Given the description of an element on the screen output the (x, y) to click on. 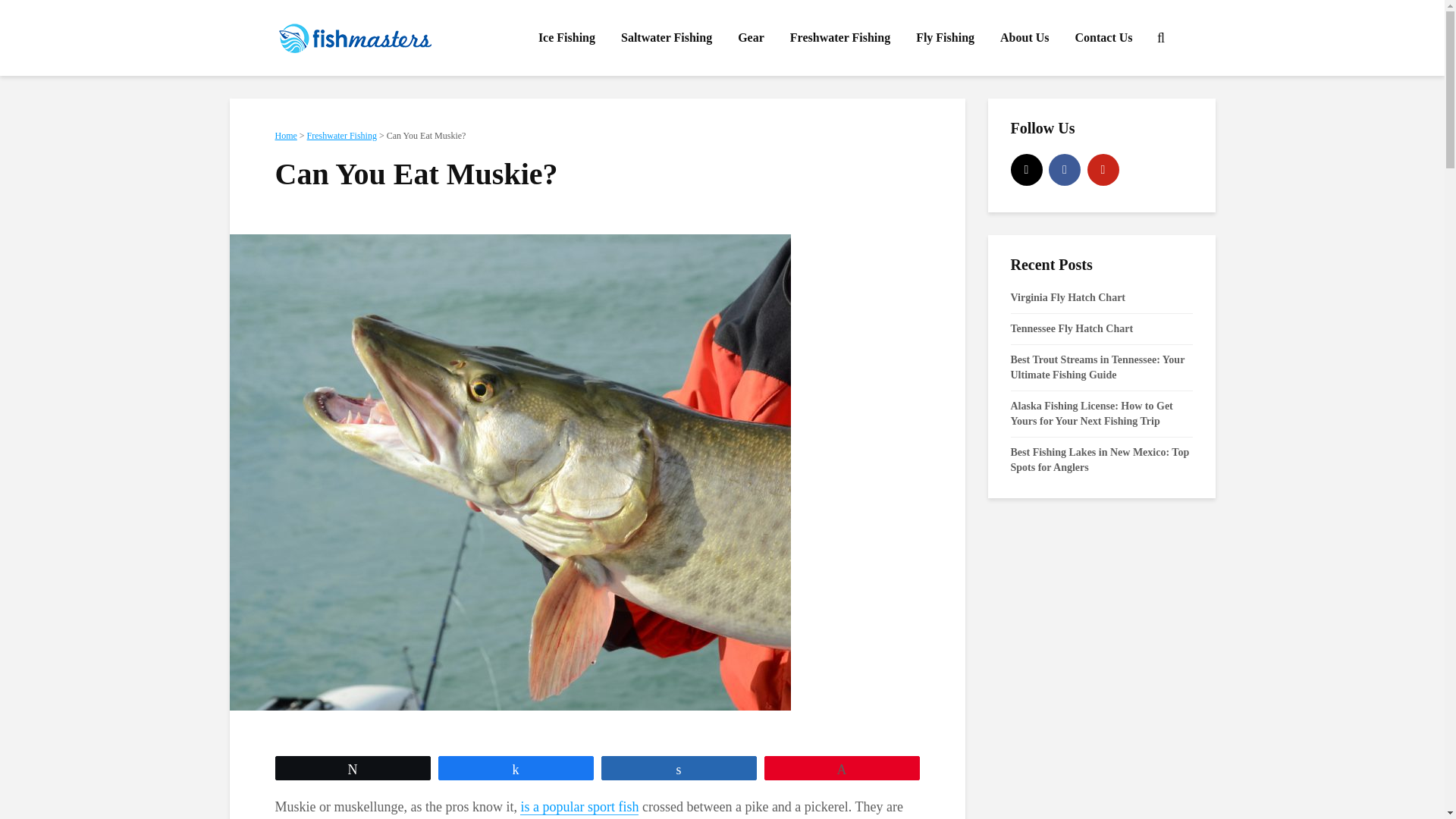
Fly Fishing (944, 37)
Freshwater Fishing (839, 37)
Facebook (1064, 169)
About Us (1023, 37)
Ice Fishing (567, 37)
Contact Us (1102, 37)
Saltwater Fishing (666, 37)
Go to Home (286, 135)
Freshwater Fishing (342, 135)
Gear (751, 37)
Go to the Freshwater Fishing category archives. (342, 135)
Pinterest (1103, 169)
Instagram (1026, 169)
Home (286, 135)
